Given the description of an element on the screen output the (x, y) to click on. 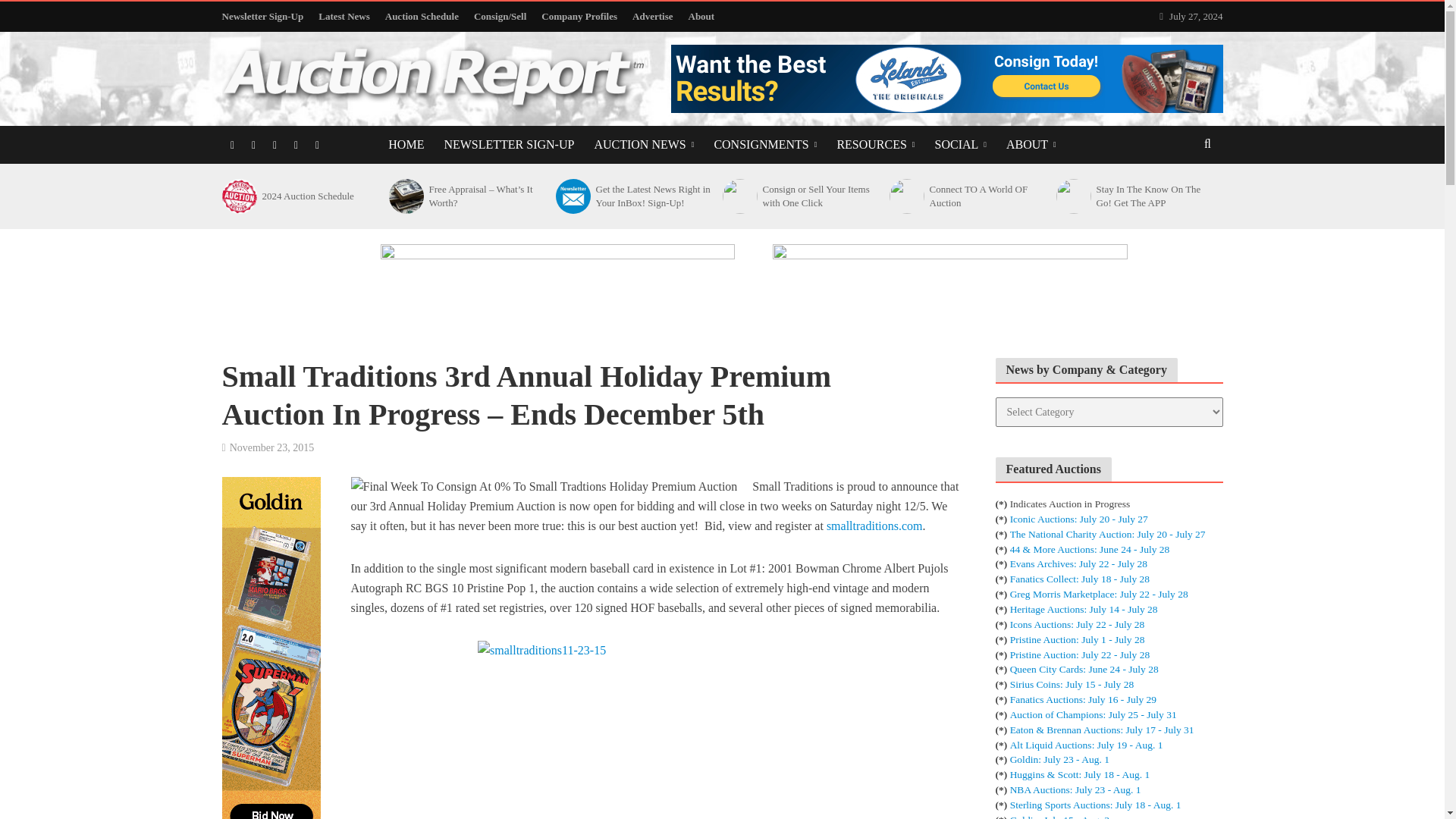
HOME (405, 144)
About (701, 16)
Get the Latest News Right in Your InBox! Sign-Up! (571, 196)
AUCTION NEWS (643, 144)
Company Profiles (579, 16)
Auction Schedule (421, 16)
Latest News (344, 16)
Newsletter Sign-Up (266, 16)
Consign or Sell Your Items with One Click (738, 196)
Advertise (651, 16)
CONSIGNMENTS (765, 144)
NEWSLETTER SIGN-UP (508, 144)
SOCIAL (959, 144)
RESOURCES (875, 144)
2024 Auction Schedule (237, 196)
